Given the description of an element on the screen output the (x, y) to click on. 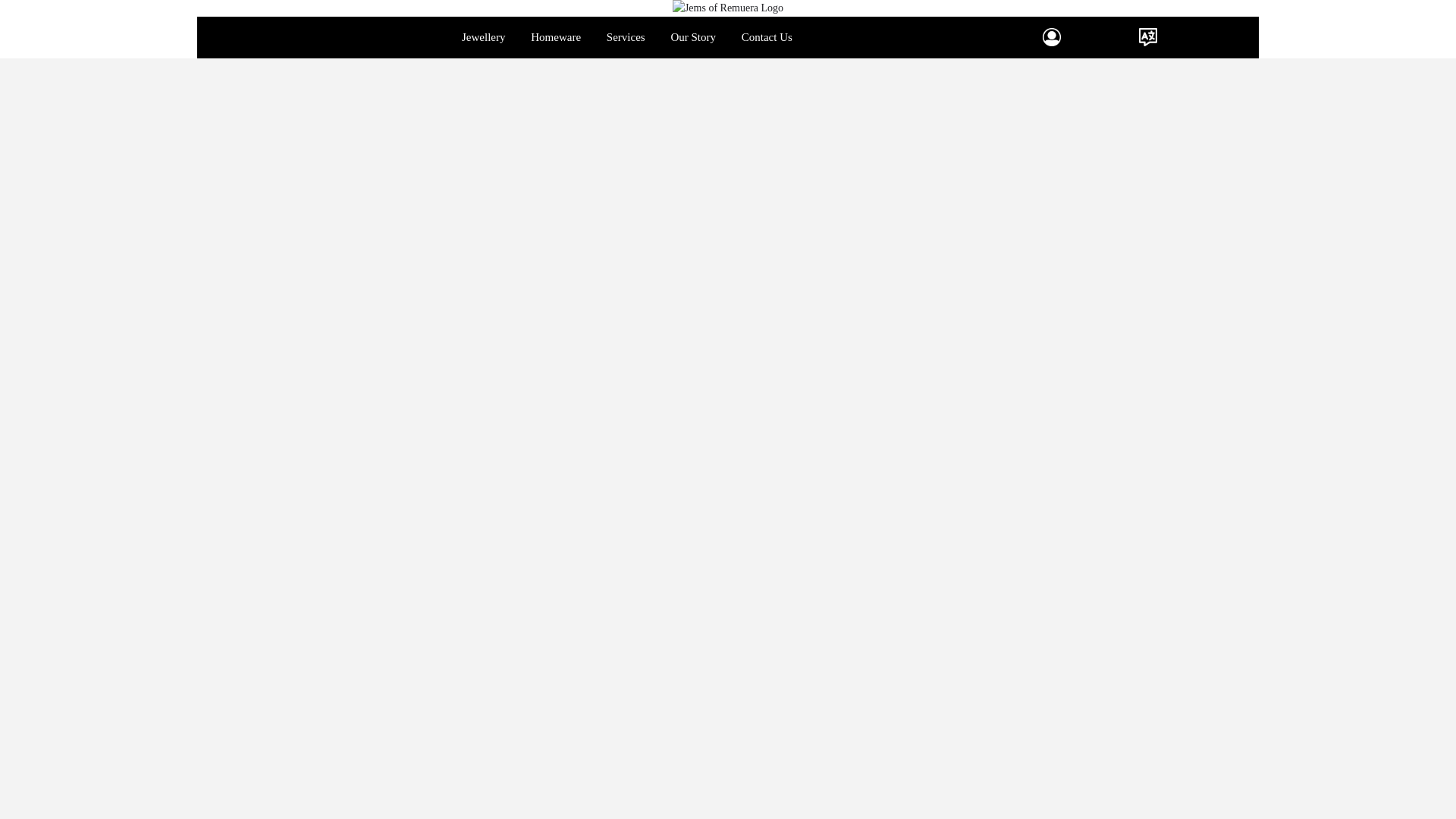
Contact Us (766, 36)
Jewellery (482, 36)
Homeware (555, 36)
Services (625, 36)
Our Story (692, 36)
